Given the description of an element on the screen output the (x, y) to click on. 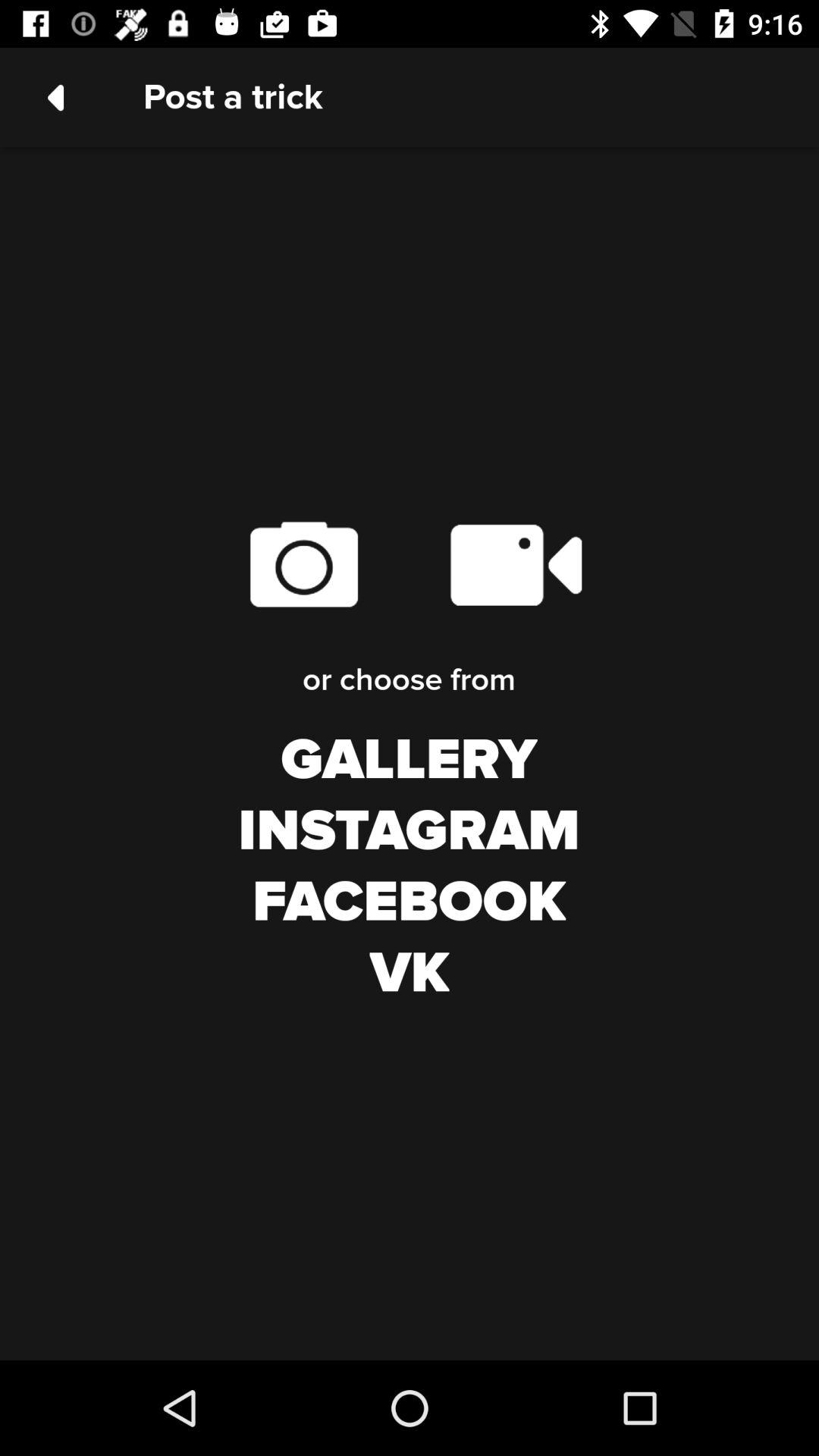
choose item next to the post a trick item (55, 97)
